Given the description of an element on the screen output the (x, y) to click on. 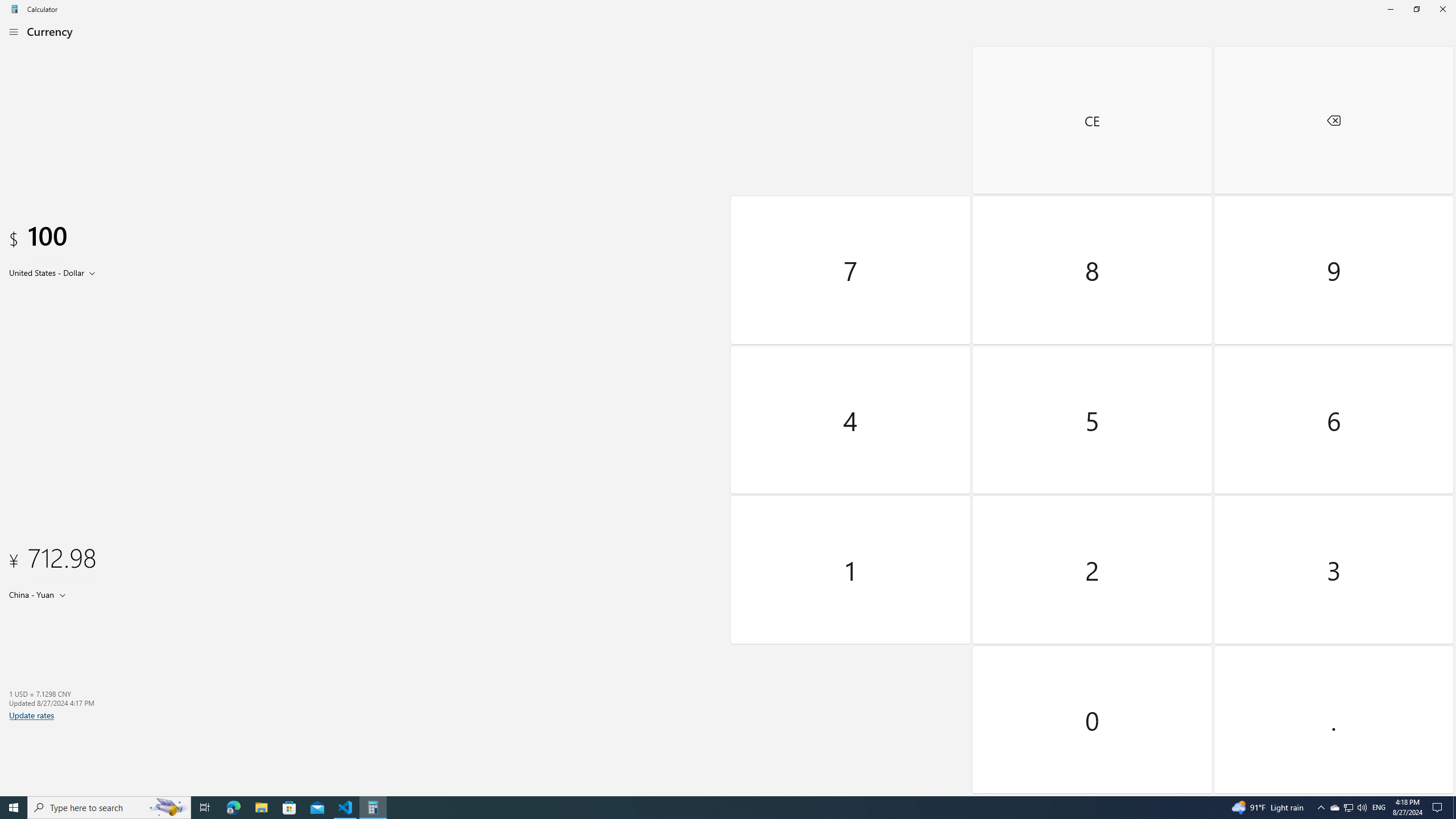
Open Navigation (13, 31)
Eight (1092, 269)
Backspace (1333, 119)
Close Calculator (1442, 9)
Nine (1333, 269)
Output unit (39, 593)
Calculator - 1 running window (373, 807)
Two (1092, 569)
Five (1092, 419)
Four (850, 419)
